Given the description of an element on the screen output the (x, y) to click on. 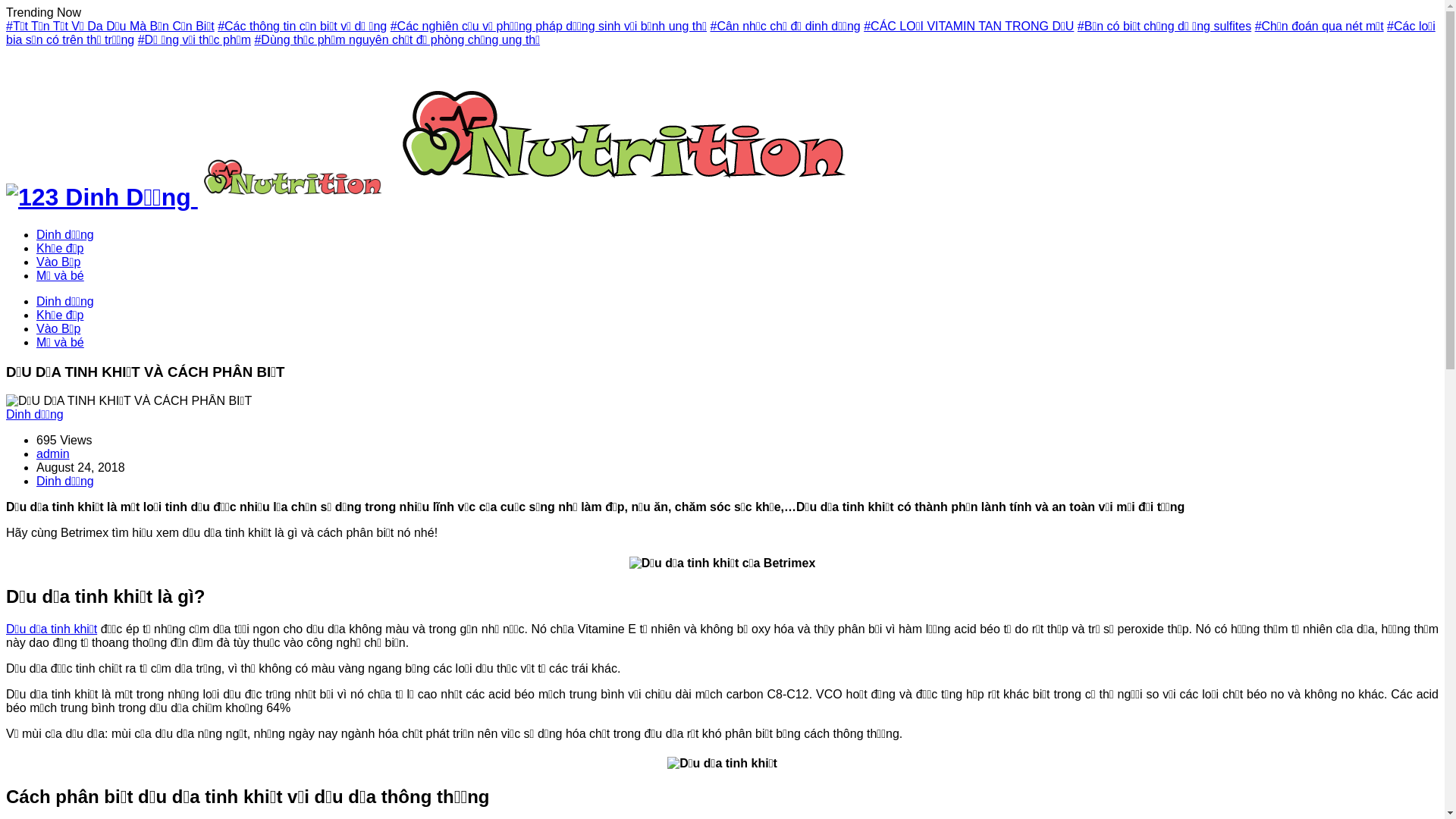
admin Element type: text (52, 453)
